Given the description of an element on the screen output the (x, y) to click on. 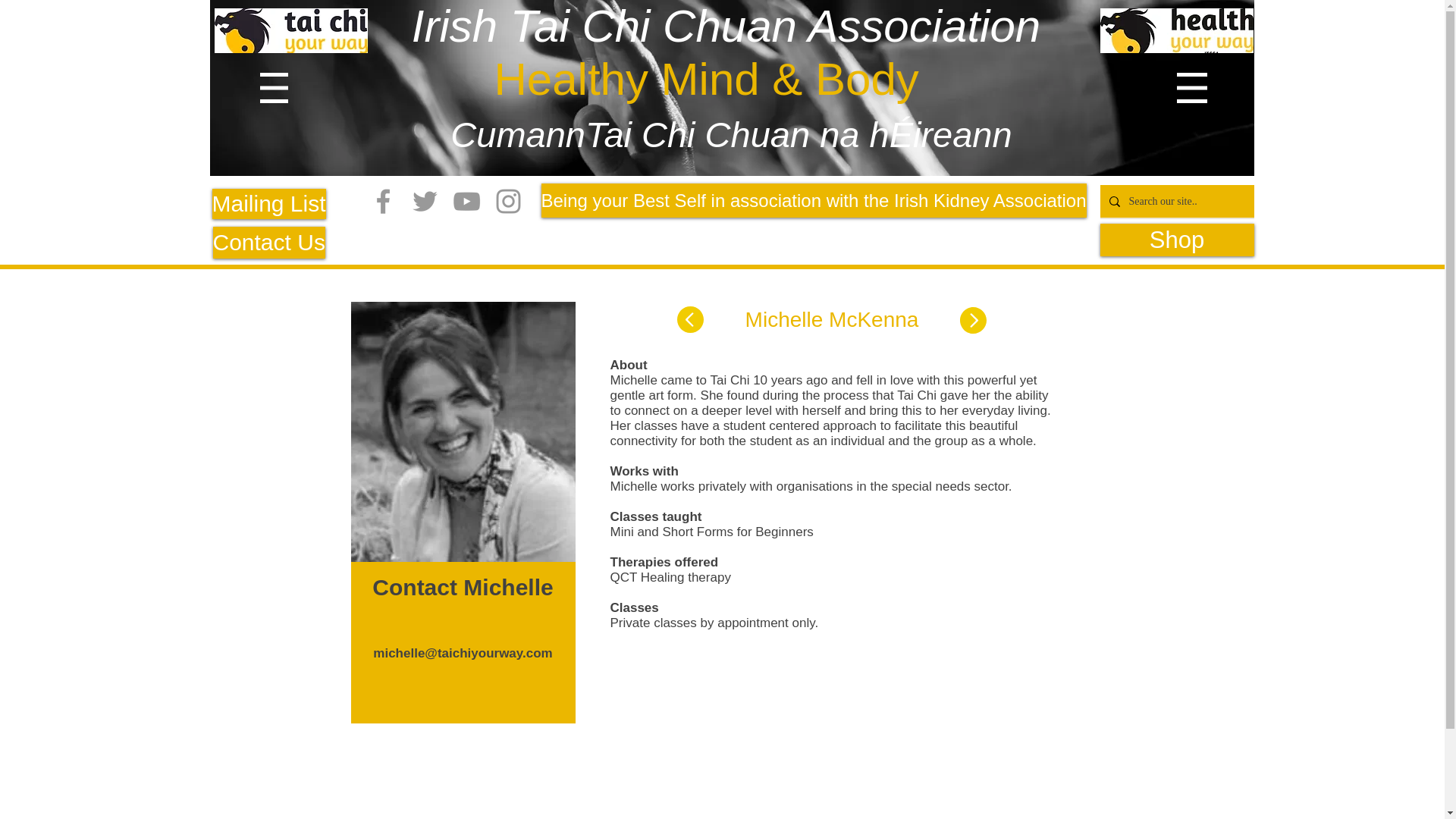
Mailing List (269, 204)
Shop (1176, 239)
Contact Us (268, 242)
